Given the description of an element on the screen output the (x, y) to click on. 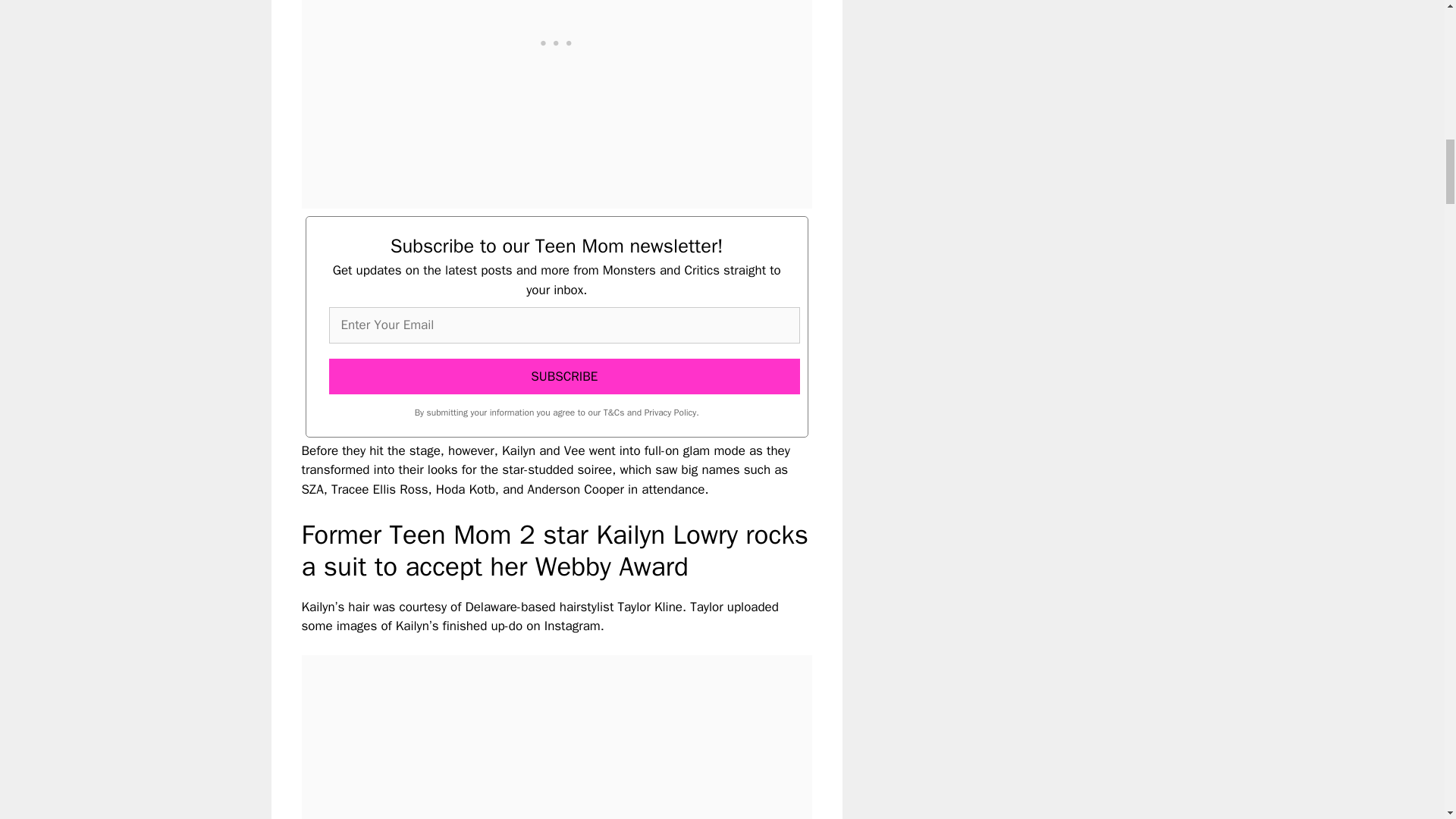
SUBSCRIBE (564, 376)
SUBSCRIBE (564, 376)
